Given the description of an element on the screen output the (x, y) to click on. 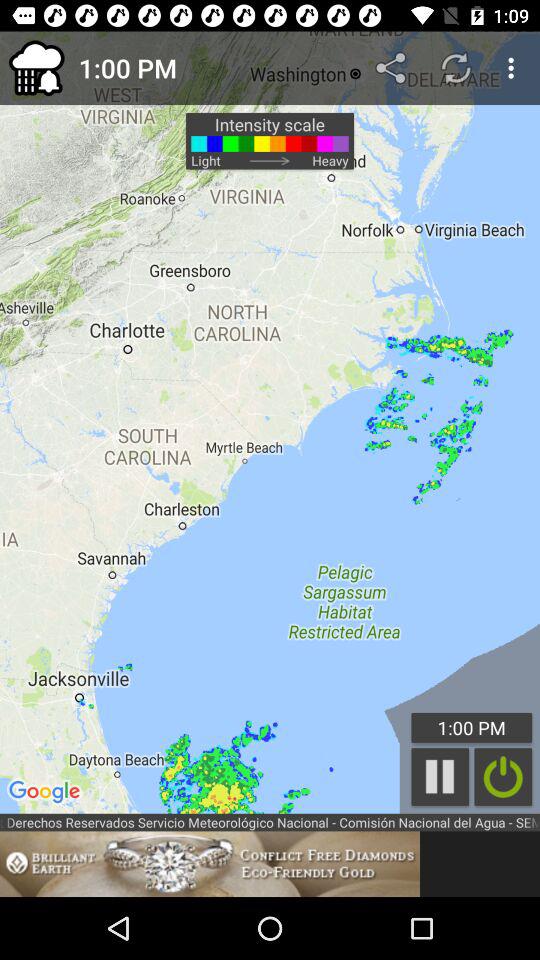
choose the icon to the left of 1:00 pm item (36, 68)
